Given the description of an element on the screen output the (x, y) to click on. 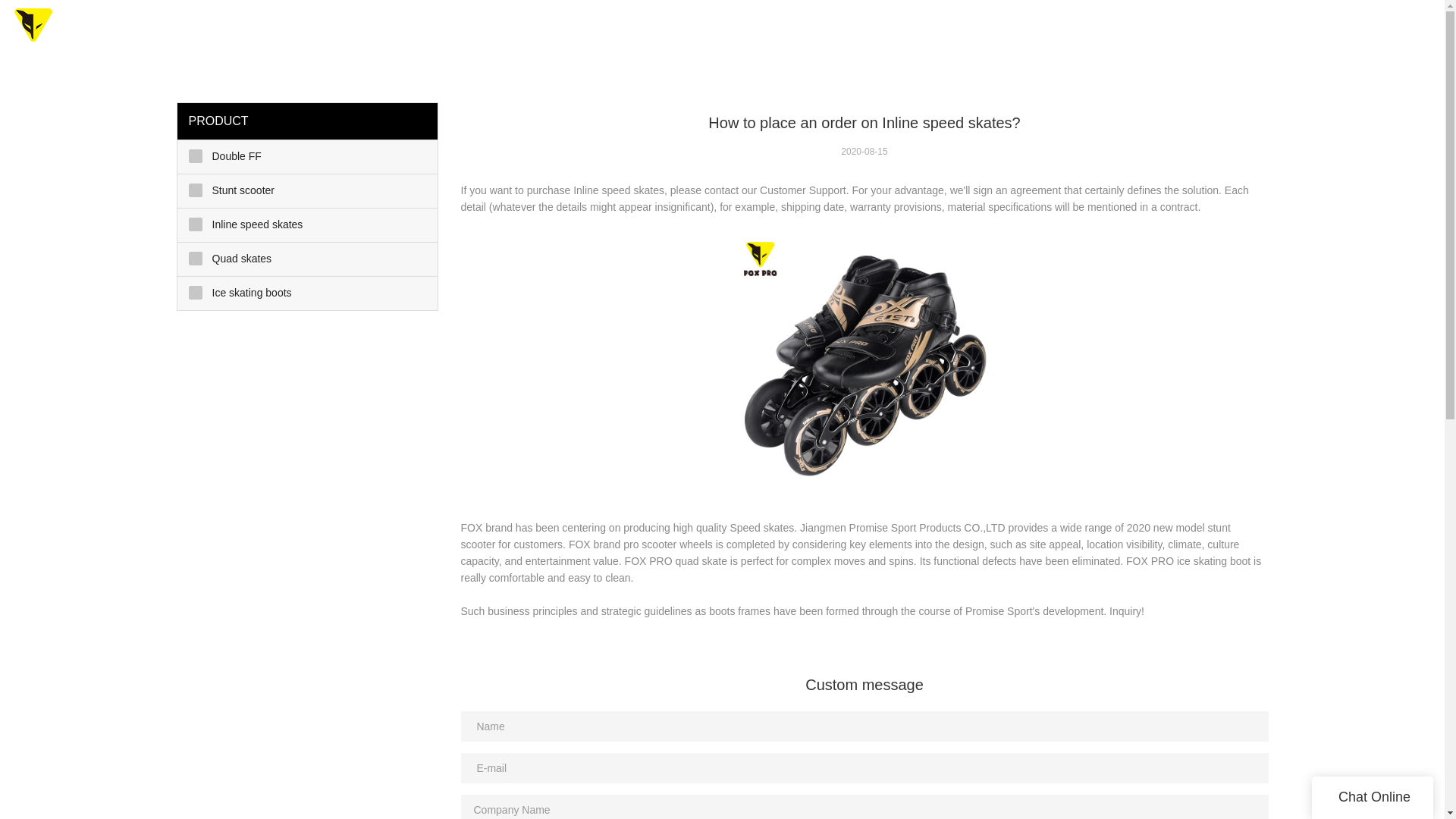
OEM (780, 30)
ABOUT US (1127, 30)
PRODUCT (850, 30)
VIDEO (1052, 30)
OUR ADVANTAGES (958, 30)
INFORMATIONS (1232, 30)
HOME (725, 30)
